Given the description of an element on the screen output the (x, y) to click on. 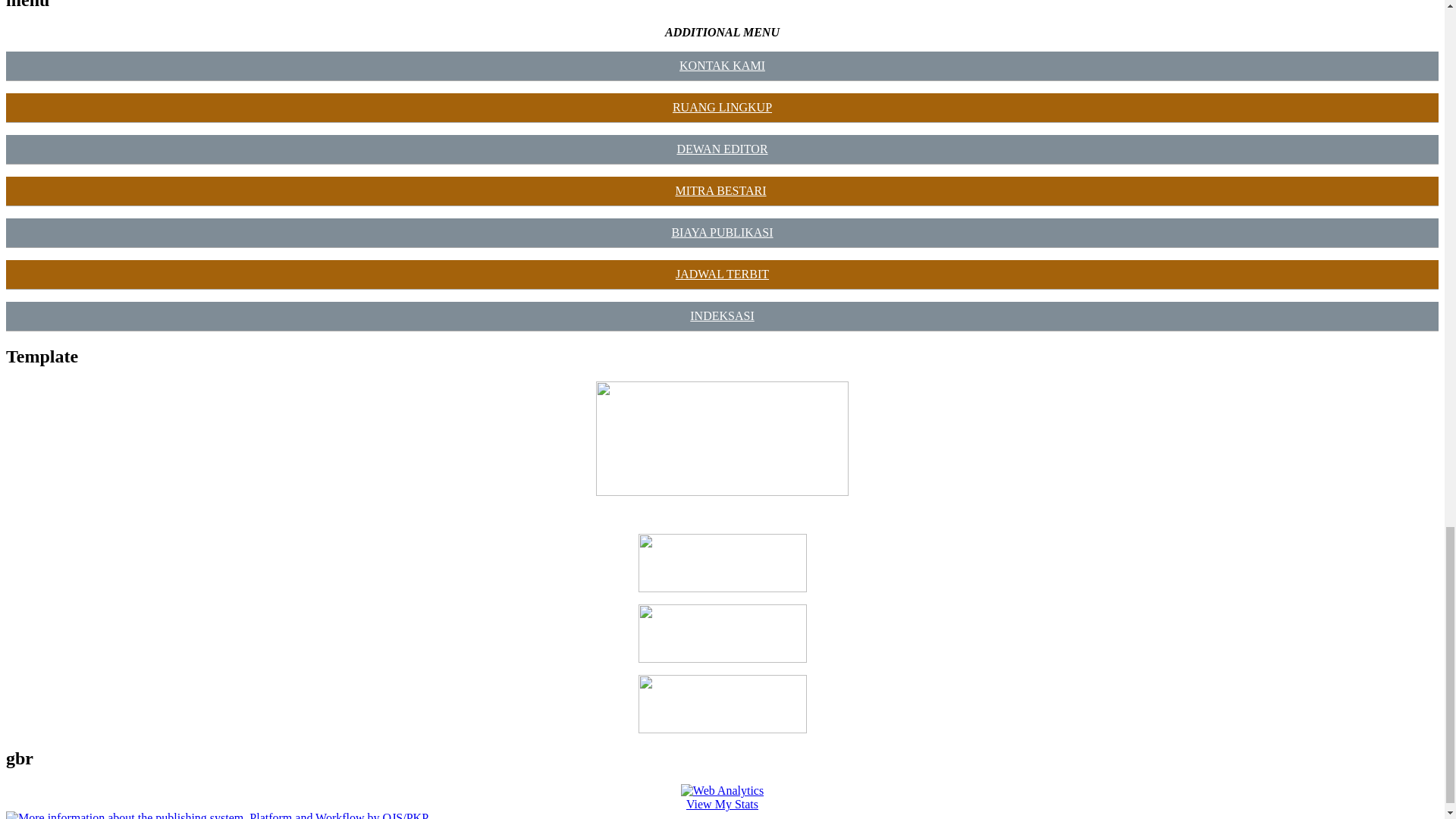
Web Analytics (721, 789)
